Given the description of an element on the screen output the (x, y) to click on. 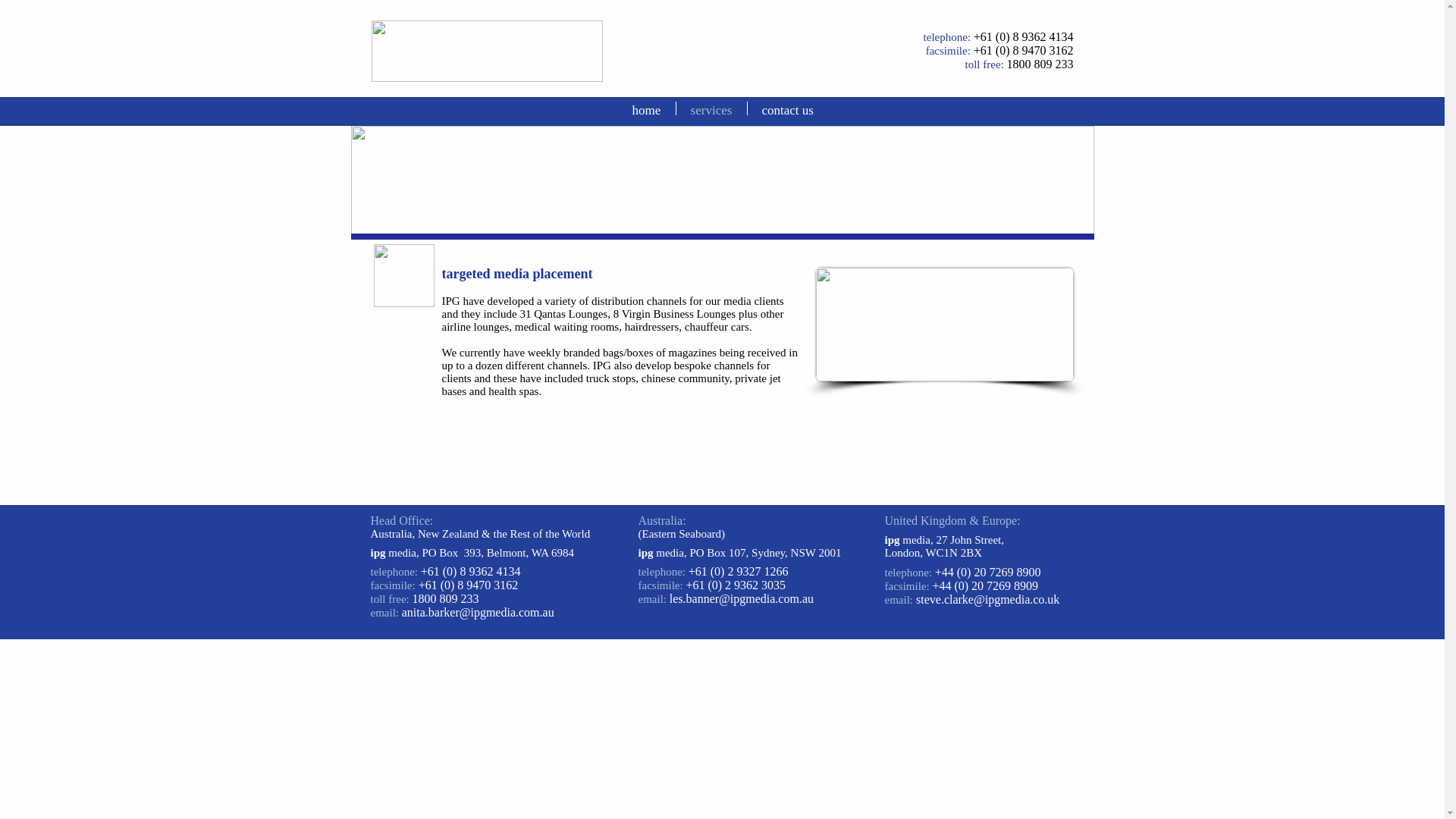
contact us Element type: text (787, 108)
targetedmedia.png Element type: hover (944, 324)
services Element type: text (711, 108)
les.banner@ipgmedia.com.au Element type: text (741, 598)
anita.barker@ipgmedia.com.au Element type: text (477, 612)
steve.clarke@ipgmedia.co.uk Element type: text (987, 599)
targeted.png Element type: hover (403, 275)
targetedmedia.png Element type: hover (721, 182)
home Element type: text (645, 108)
